Given the description of an element on the screen output the (x, y) to click on. 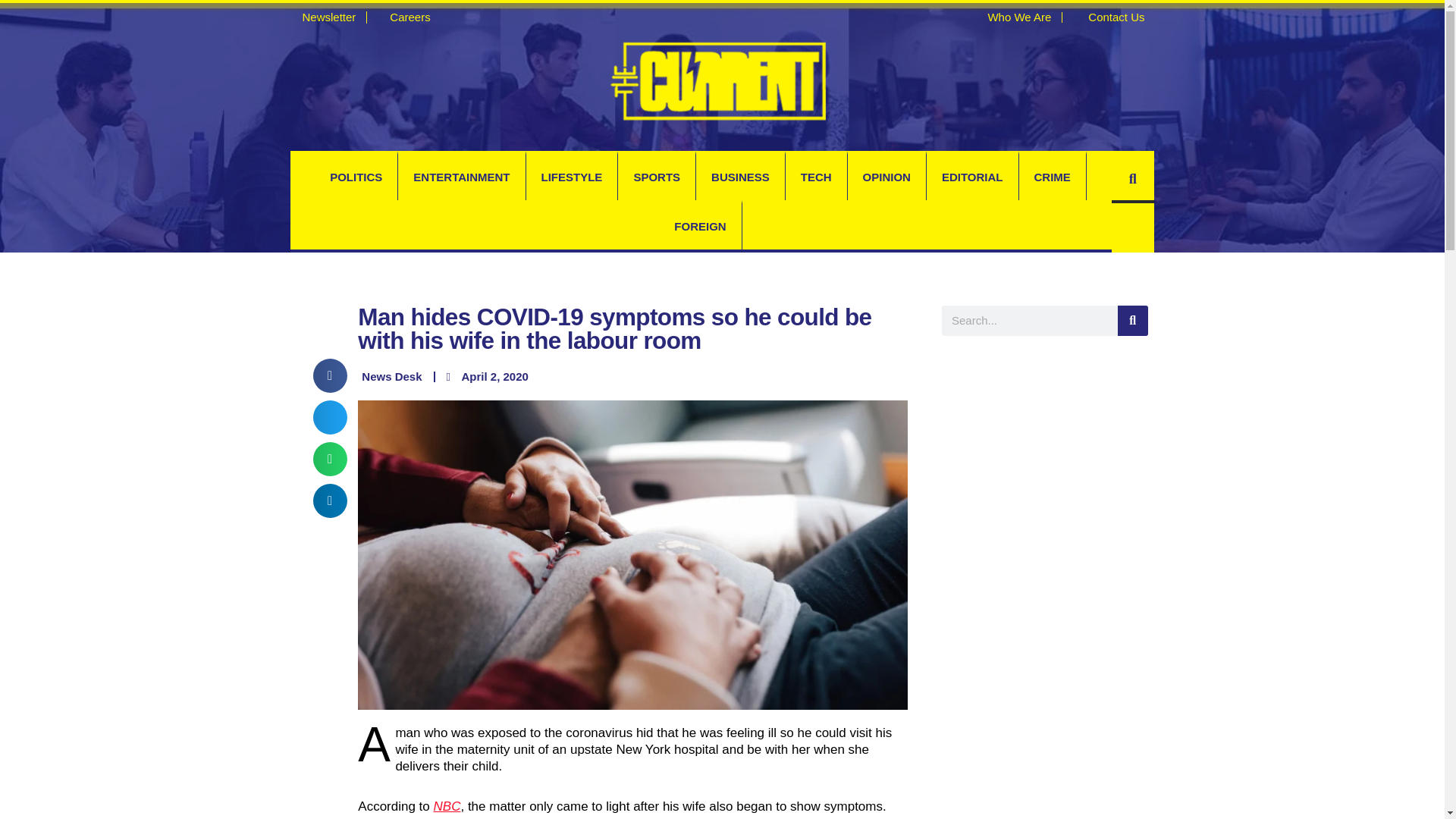
BUSINESS (739, 176)
Who We Are (1011, 17)
LIFESTYLE (571, 176)
CRIME (1052, 176)
Contact Us (1108, 17)
TECH (816, 176)
EDITORIAL (971, 176)
SPORTS (656, 176)
OPINION (886, 176)
Newsletter (322, 17)
Careers (403, 17)
FOREIGN (700, 226)
ENTERTAINMENT (460, 176)
POLITICS (355, 176)
